Given the description of an element on the screen output the (x, y) to click on. 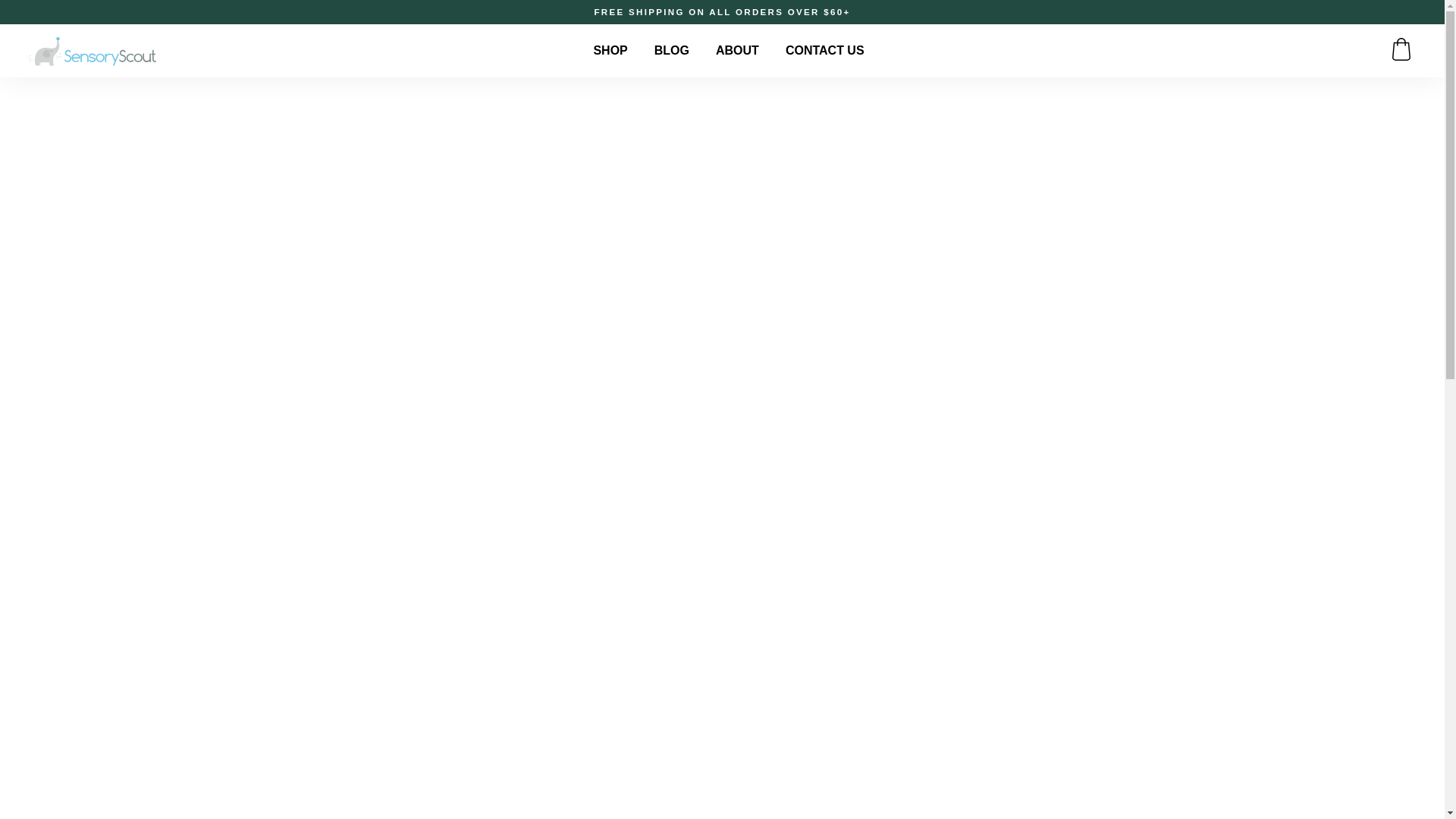
CONTACT US (824, 50)
SHOP (609, 50)
ABOUT (737, 50)
BLOG (671, 50)
